Given the description of an element on the screen output the (x, y) to click on. 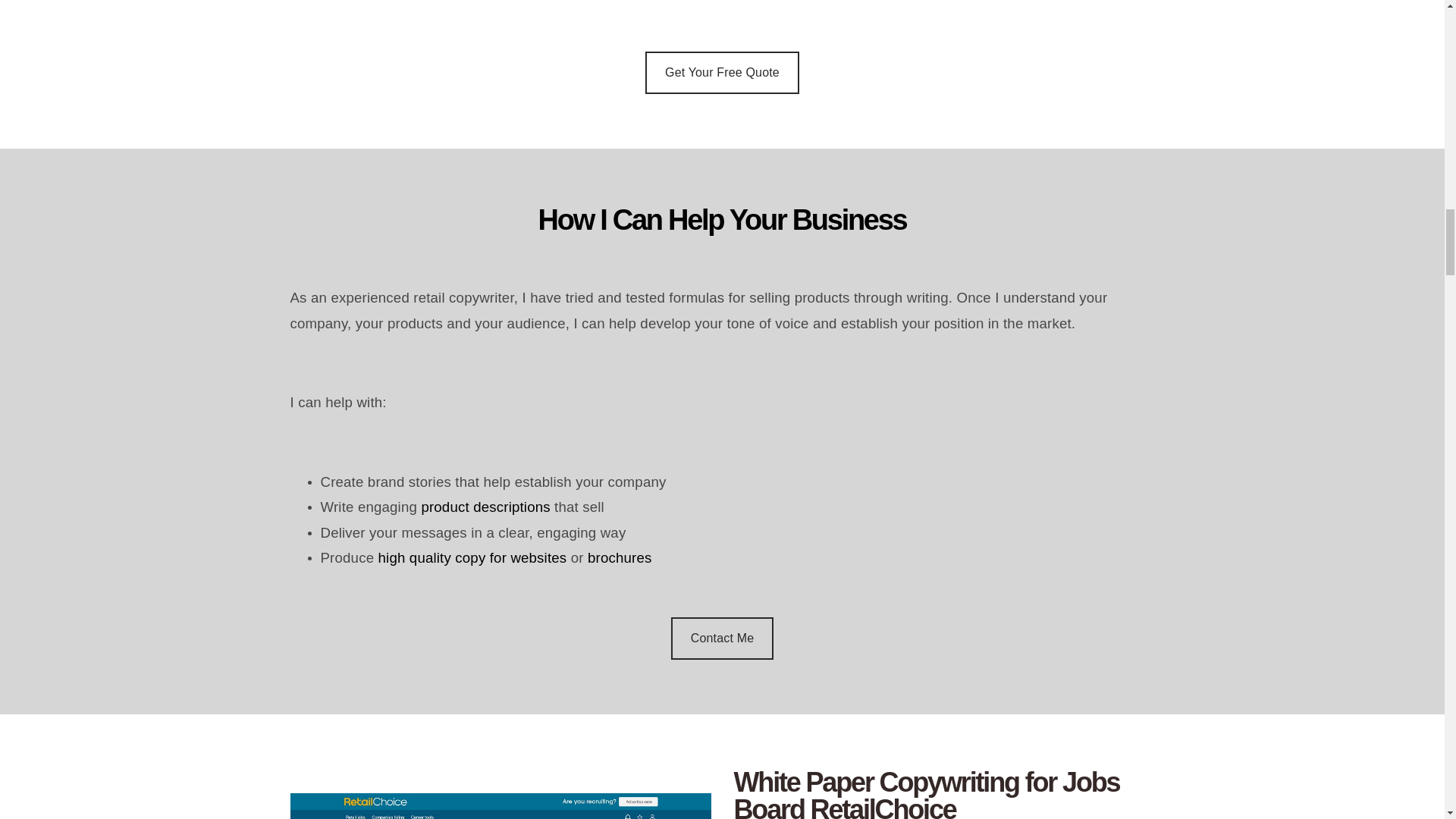
How I Can Help Your Business (721, 239)
Get Your Free Quote (722, 72)
retail-choice (499, 806)
White Paper Copywriting for Jobs Board RetailChoice (943, 794)
Get Your Free Quote (722, 638)
